Given the description of an element on the screen output the (x, y) to click on. 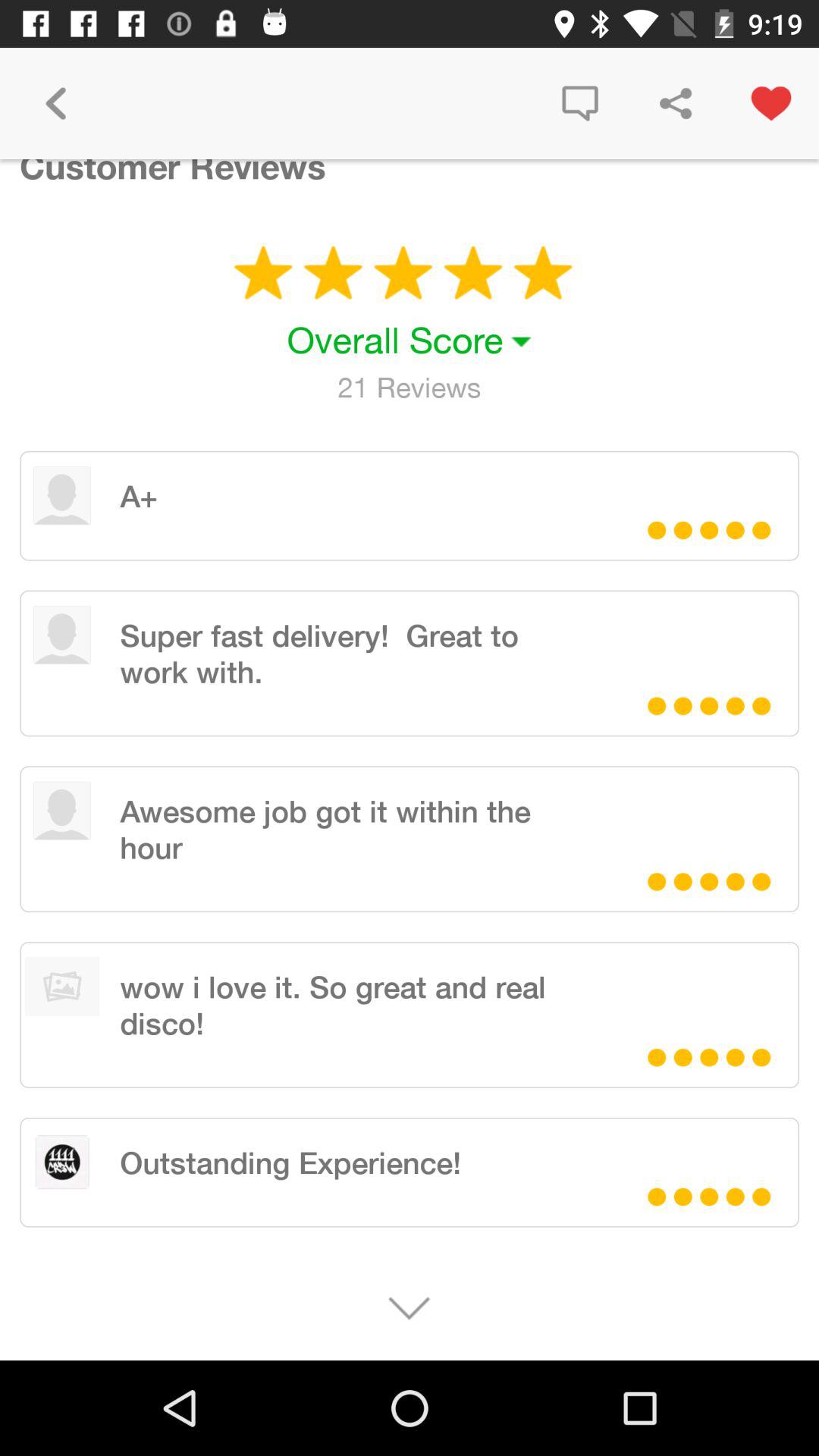
press item to the right of the customer reviews icon (579, 103)
